Given the description of an element on the screen output the (x, y) to click on. 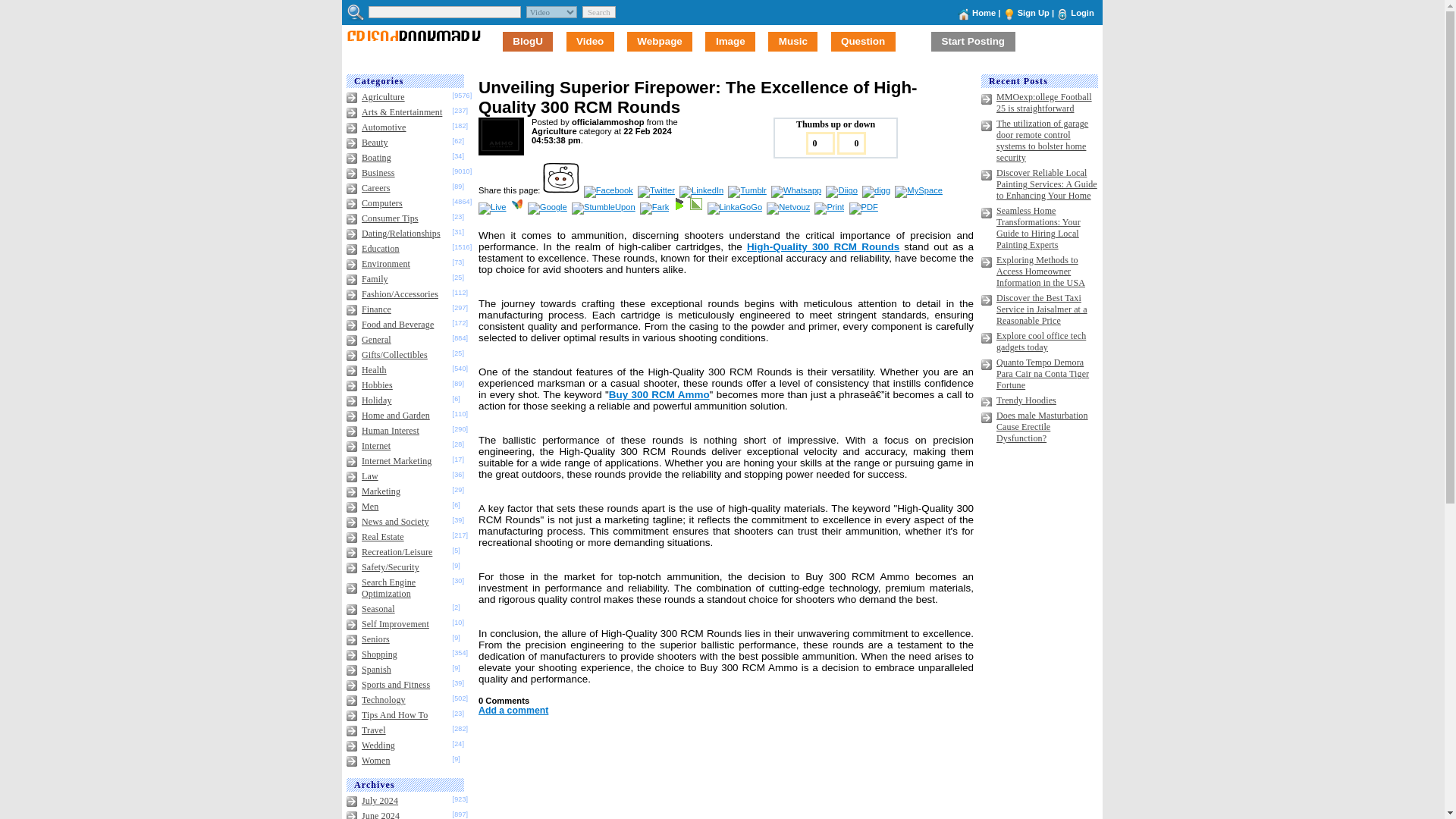
Sign Up (1033, 12)
Whatsapp (797, 189)
Login (1081, 12)
LinkedIn (702, 189)
Tumblr (748, 189)
Google (548, 206)
Live (493, 206)
LinkArena (697, 206)
Search (598, 11)
Thumbs up (819, 142)
LinkaGoGo (736, 206)
Thumbs Down (851, 142)
Reddit (561, 189)
Home (983, 12)
Search (598, 11)
